Given the description of an element on the screen output the (x, y) to click on. 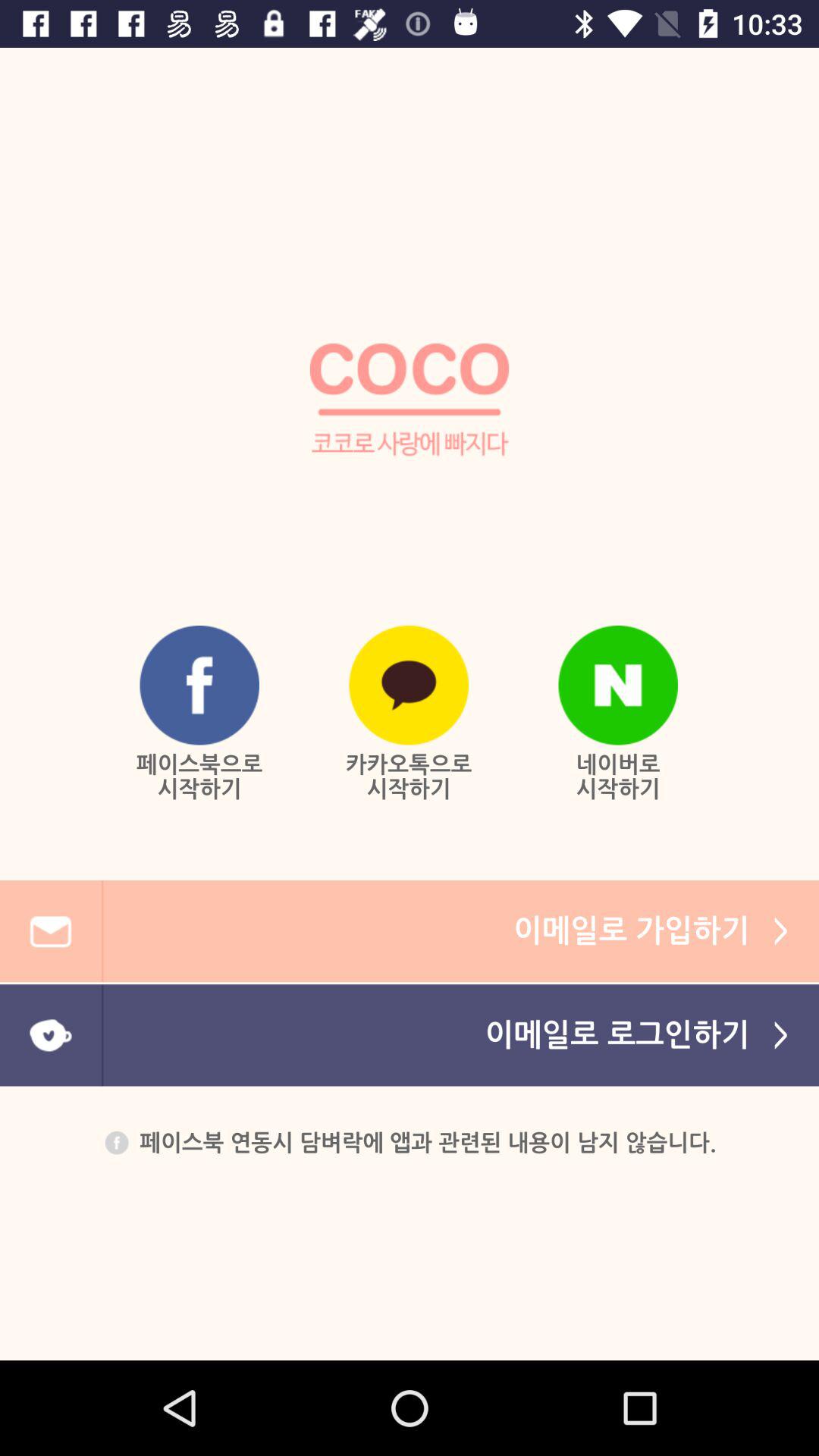
click on facebook logo at the end of the page (116, 1142)
tap on the facebook icon (199, 685)
select the bottom middle logo (408, 685)
